Given the description of an element on the screen output the (x, y) to click on. 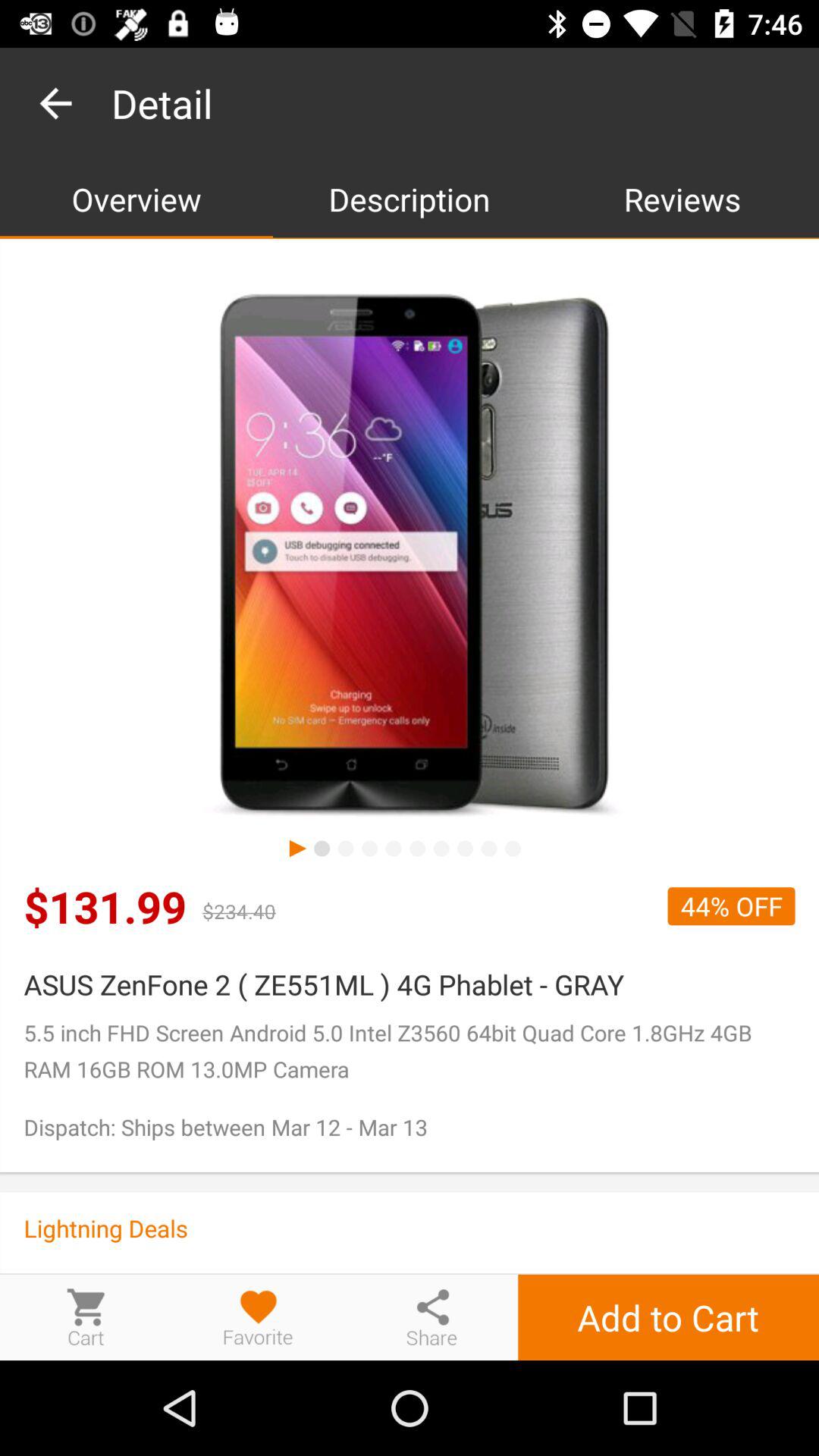
open the icon above overview (55, 103)
